Given the description of an element on the screen output the (x, y) to click on. 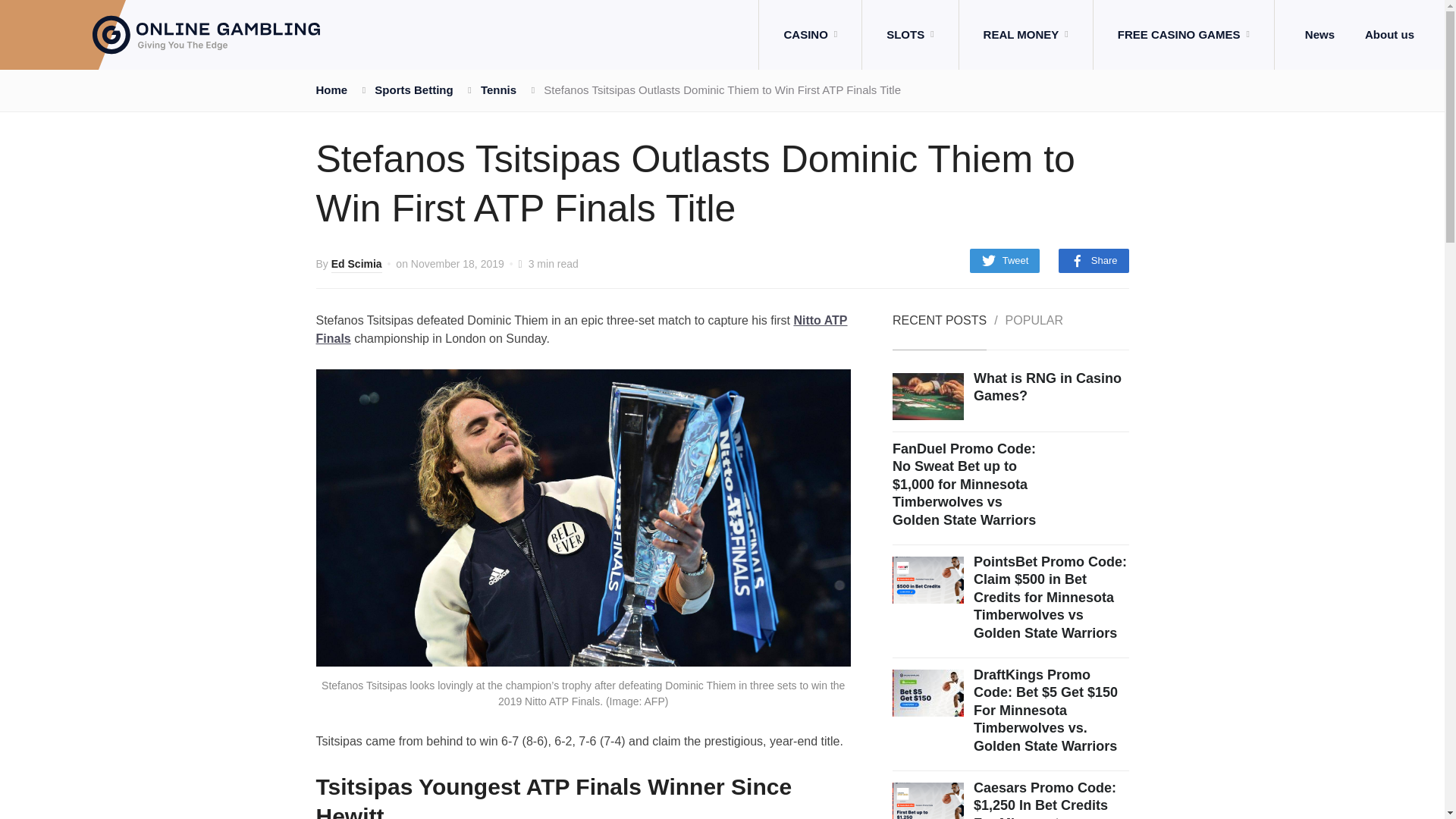
Recent Posts (939, 331)
Tweet this on Twitter (1005, 260)
Popular (1034, 331)
Share this on Facebook (1093, 260)
CASINO (809, 34)
Posts by Ed Scimia (356, 264)
